Given the description of an element on the screen output the (x, y) to click on. 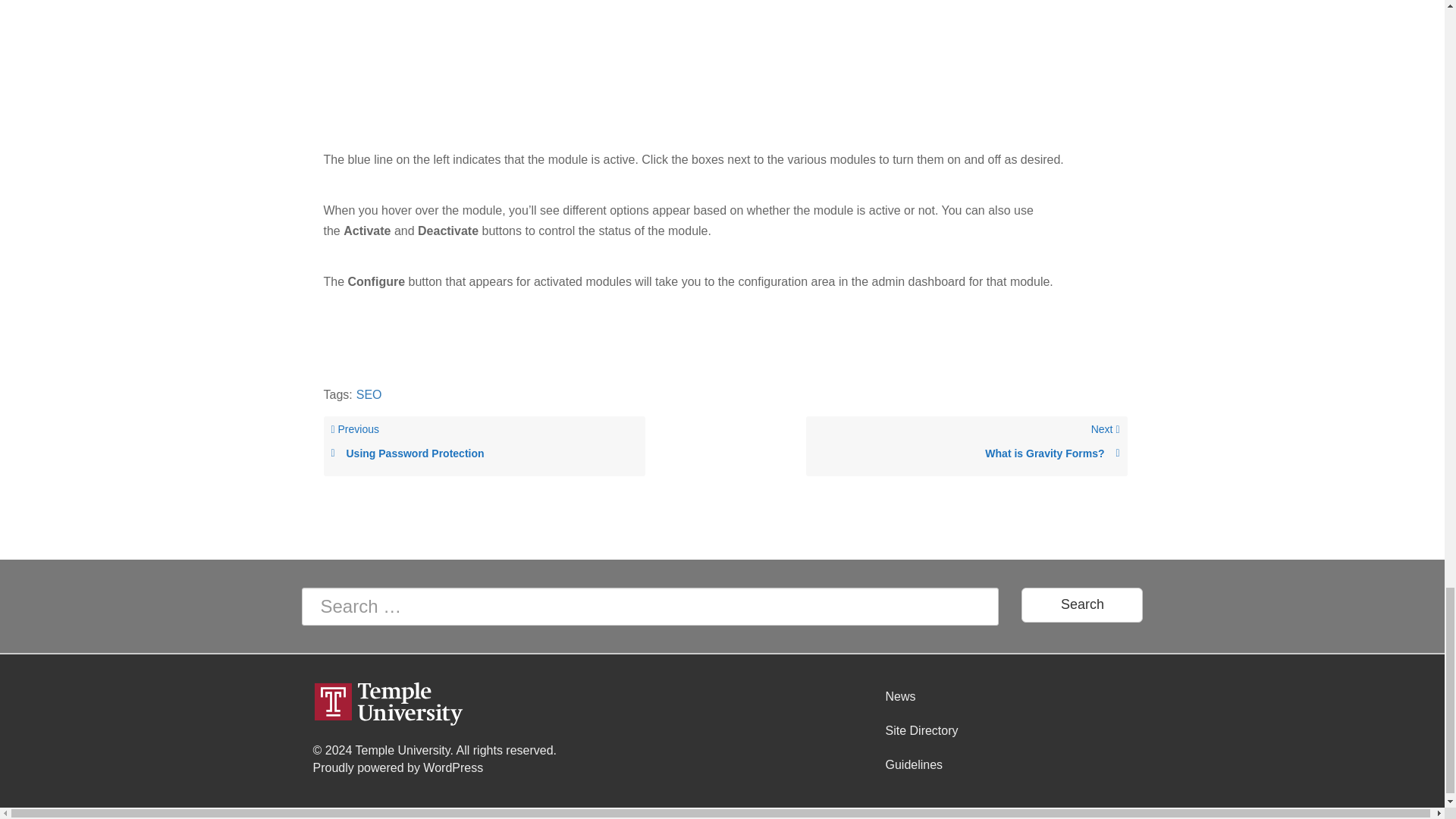
What is Gravity Forms? (965, 453)
News (1002, 696)
SEO (368, 394)
Using Password Protection (483, 453)
Semantic Personal Publishing Platform (965, 445)
Search (398, 767)
Proudly powered by WordPress (1082, 605)
